Given the description of an element on the screen output the (x, y) to click on. 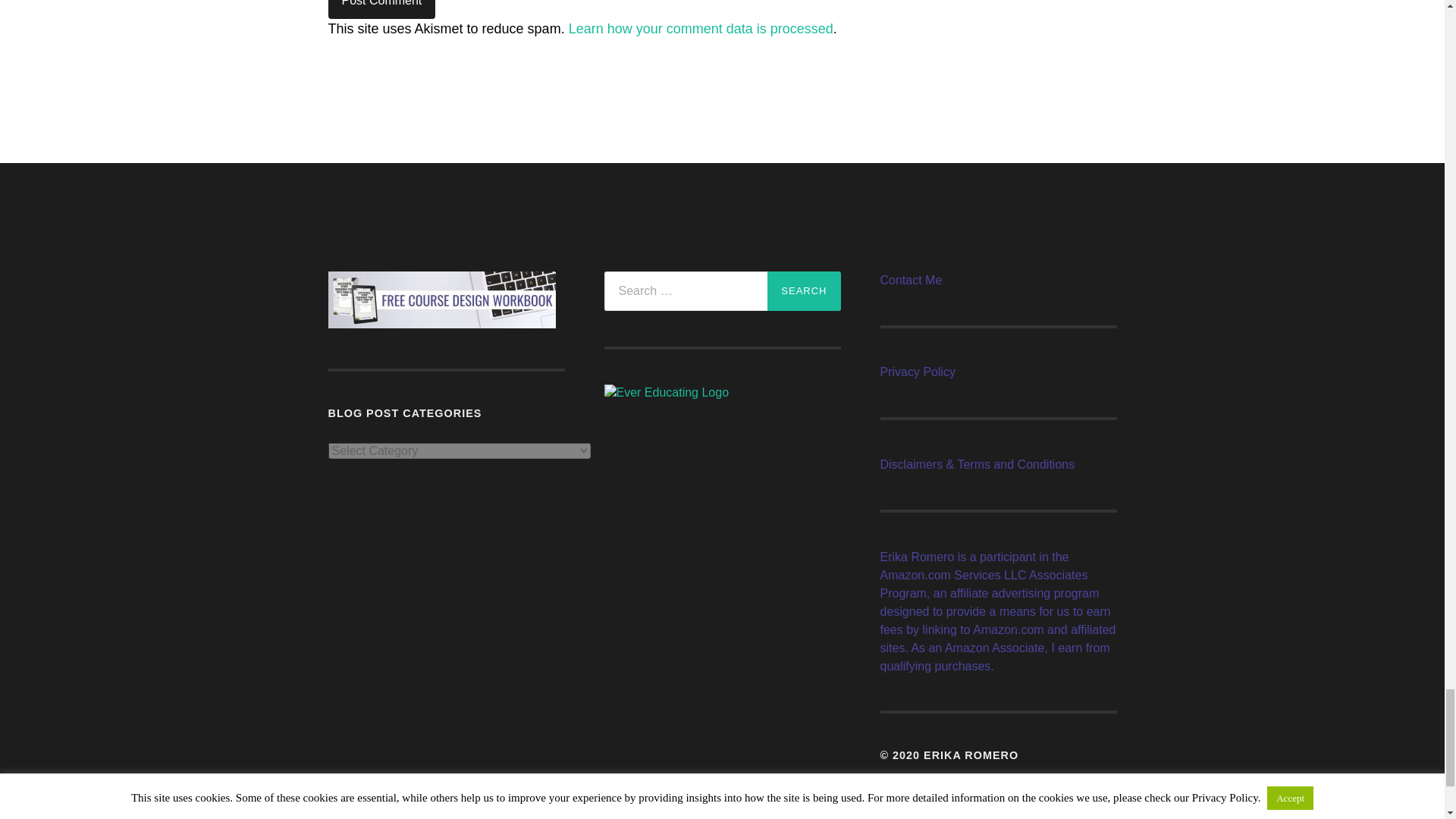
Post Comment (381, 9)
Search (803, 291)
Search (803, 291)
